Given the description of an element on the screen output the (x, y) to click on. 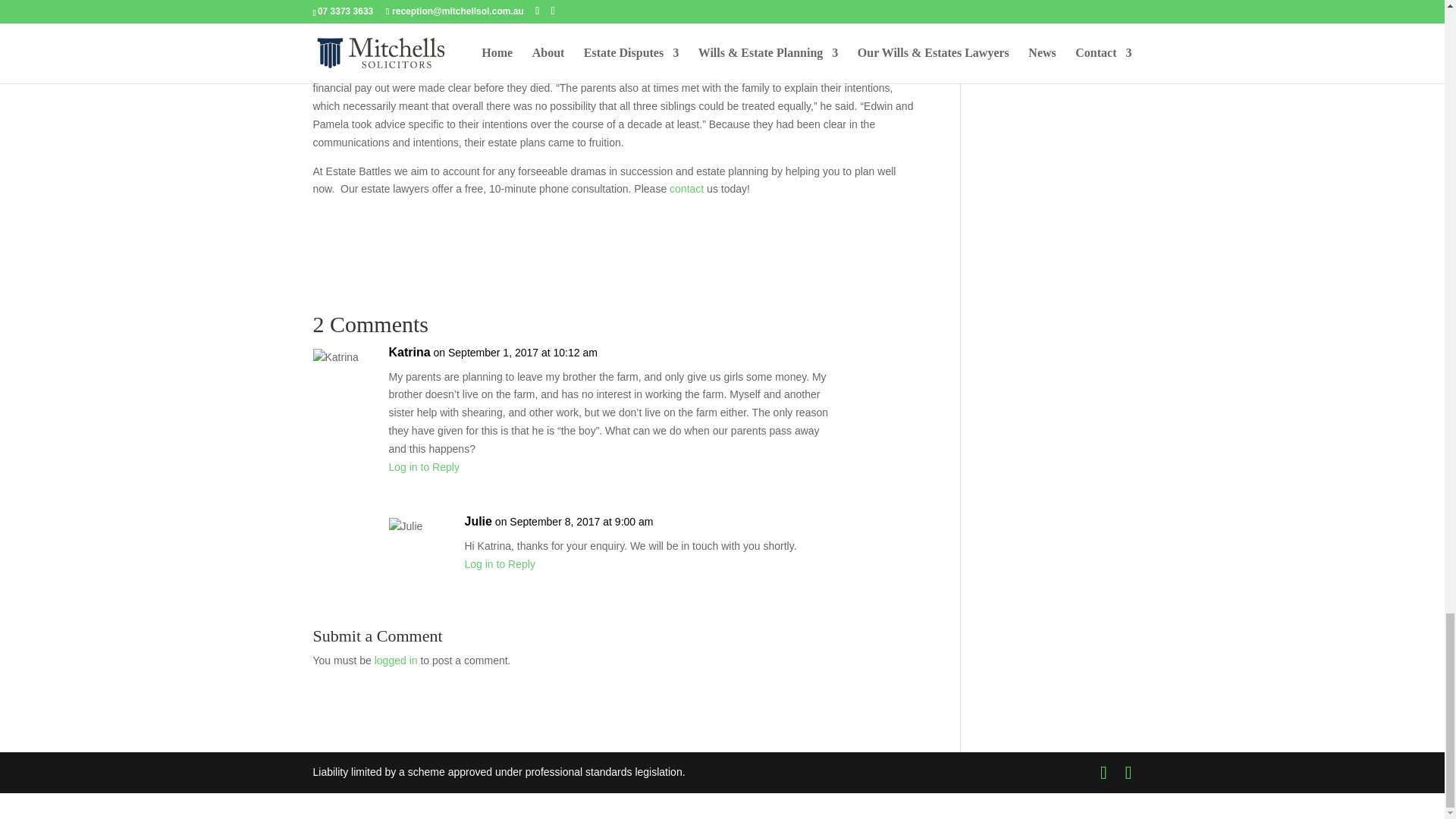
Log in to Reply (423, 467)
contact (686, 188)
Log in to Reply (499, 563)
Google conversion frame (75, 803)
